Given the description of an element on the screen output the (x, y) to click on. 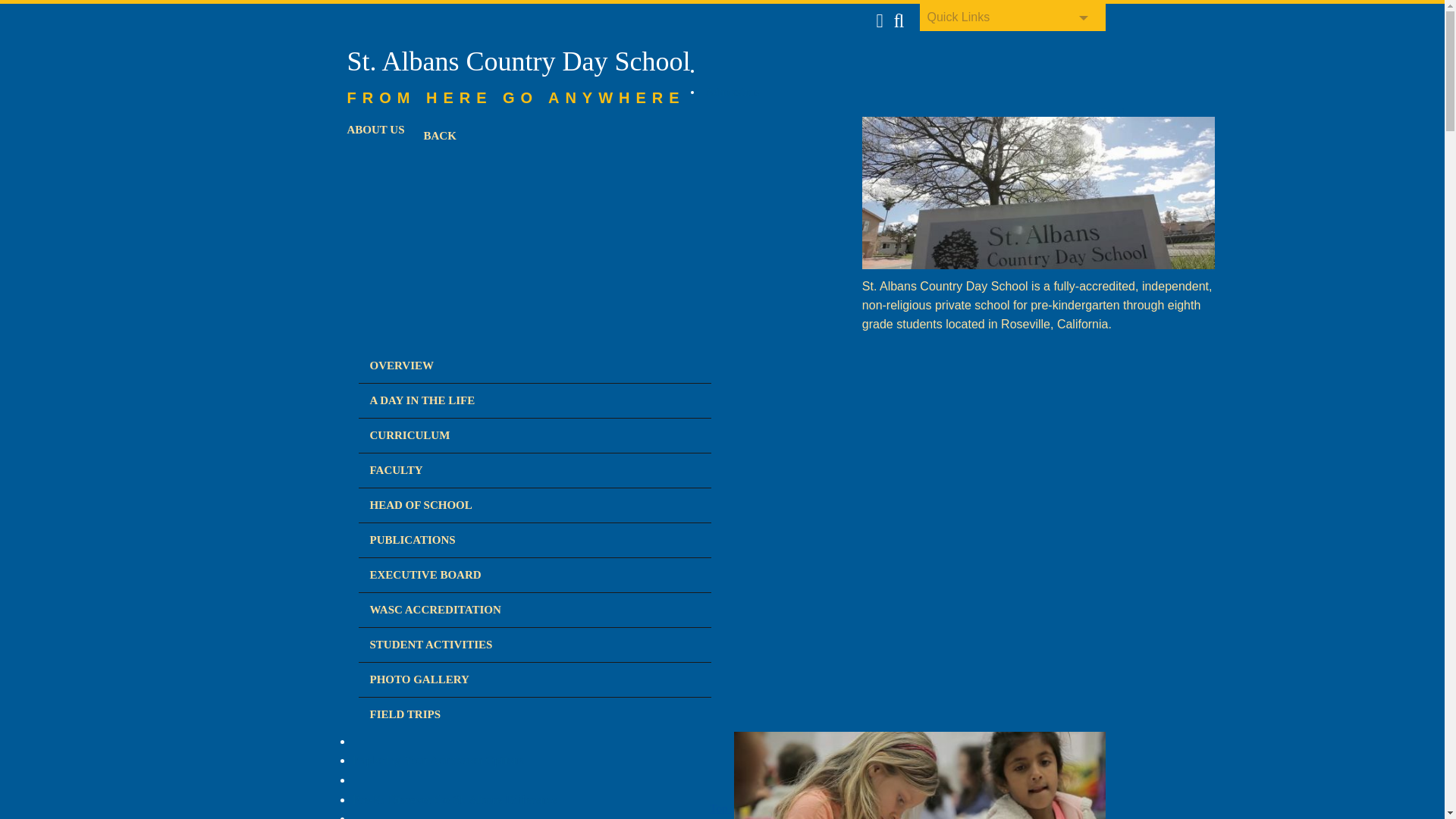
HEAD OF SCHOOL (424, 505)
EXECUTIVE BOARD (428, 574)
ABOUT US (379, 130)
WASC ACCREDITATION (438, 609)
St. Albans Country Day School (518, 64)
Exploring Your Admission Options (438, 759)
A DAY IN THE LIFE (425, 400)
FROM HERE GO ANYWHERE (516, 97)
Quick Links (1011, 17)
OVERVIEW (405, 365)
